Given the description of an element on the screen output the (x, y) to click on. 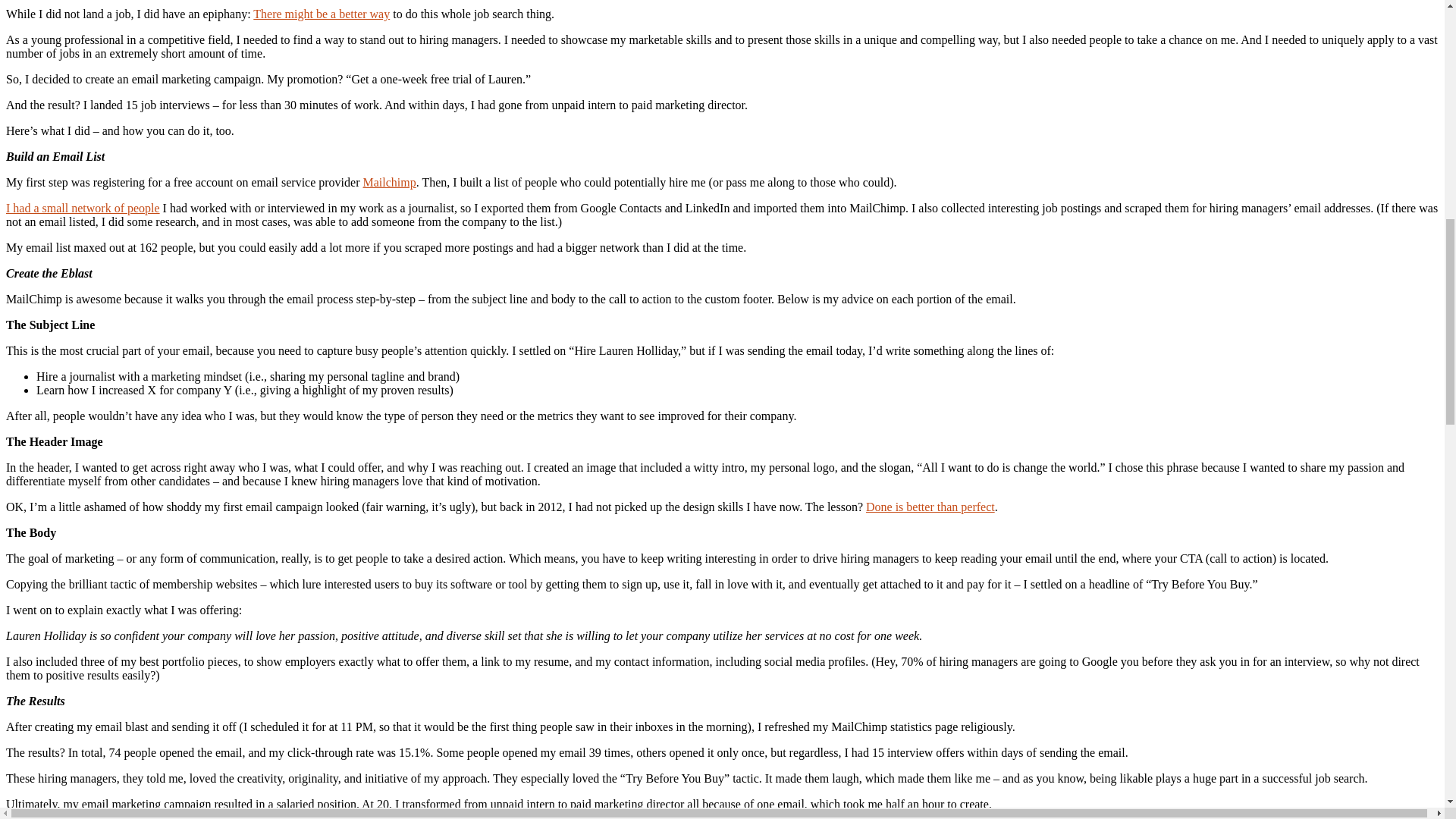
Mailchimp (388, 182)
Done is better than perfect (930, 506)
The Network You Forgot You Had (82, 207)
MailChimp (388, 182)
Why You Really Don't Need to Go Above and Beyond (930, 506)
There might be a better way (321, 13)
I had a small network of people (82, 207)
